Given the description of an element on the screen output the (x, y) to click on. 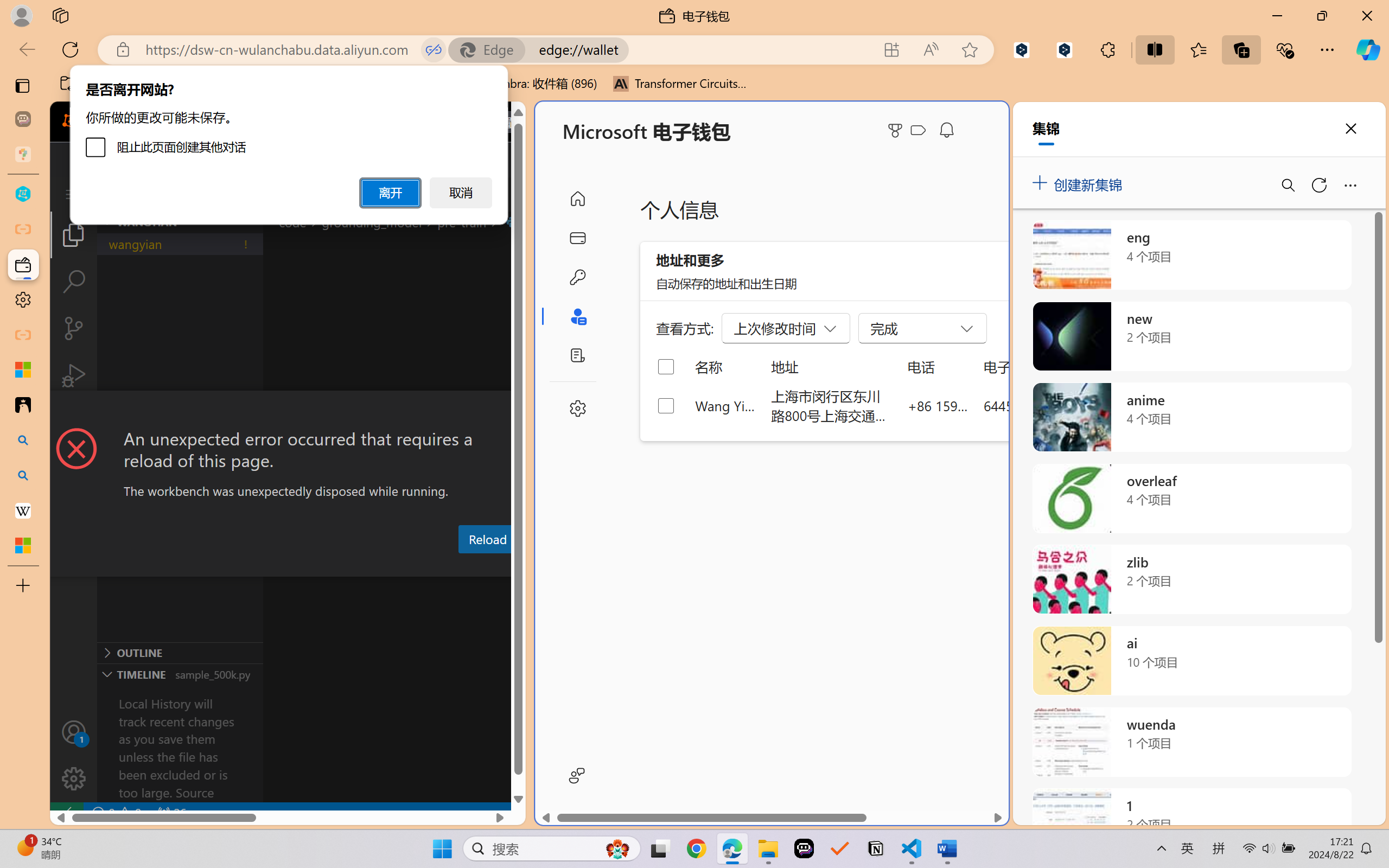
Copilot (Ctrl+Shift+.) (1368, 49)
Debug Console (Ctrl+Shift+Y) (463, 565)
Terminal (Ctrl+`) (553, 565)
Microsoft Rewards (896, 129)
